Given the description of an element on the screen output the (x, y) to click on. 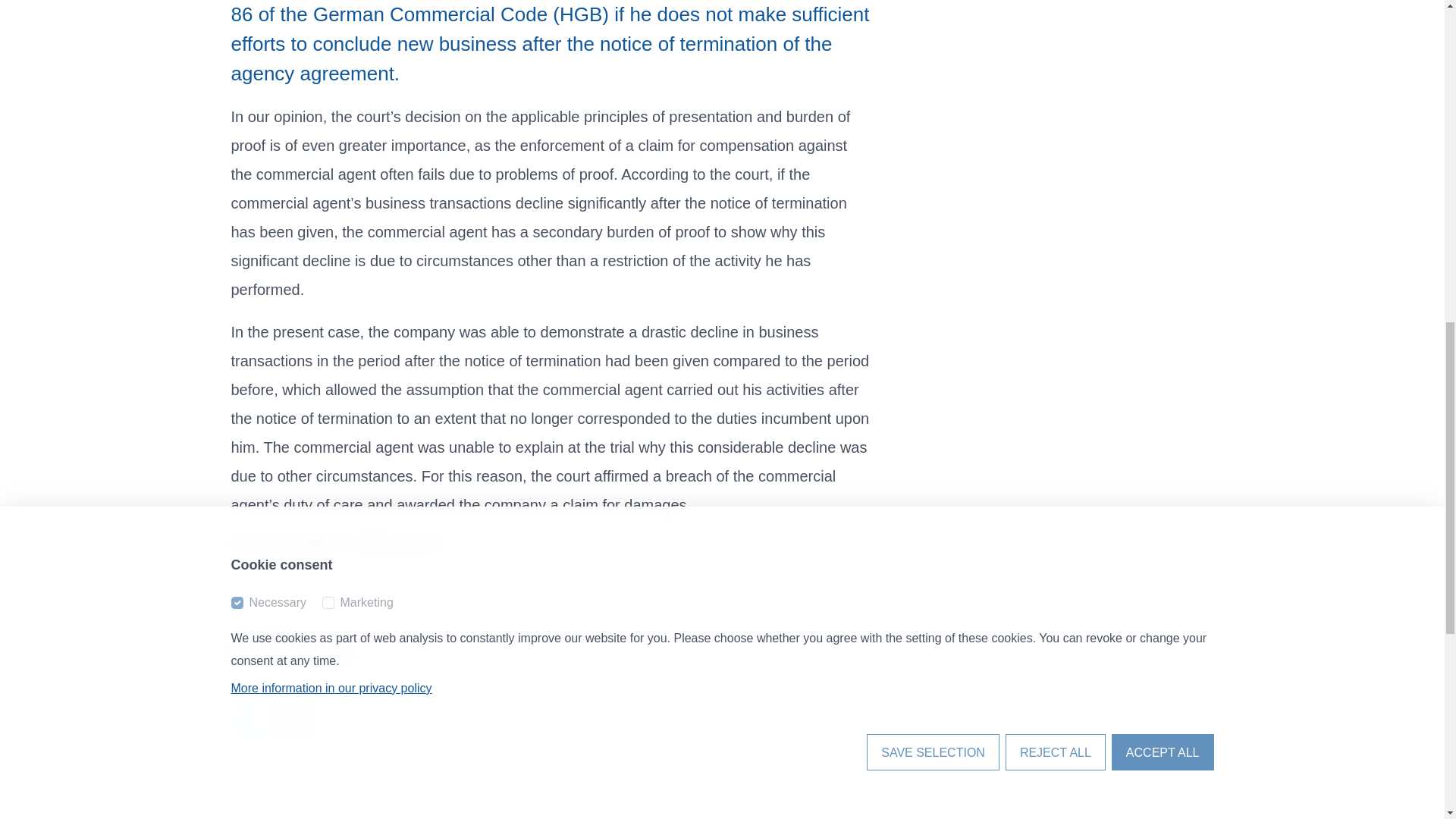
BACK (274, 720)
Dott. Martin Cordella (291, 656)
distributionlaw (395, 542)
commercialagent (284, 542)
